Given the description of an element on the screen output the (x, y) to click on. 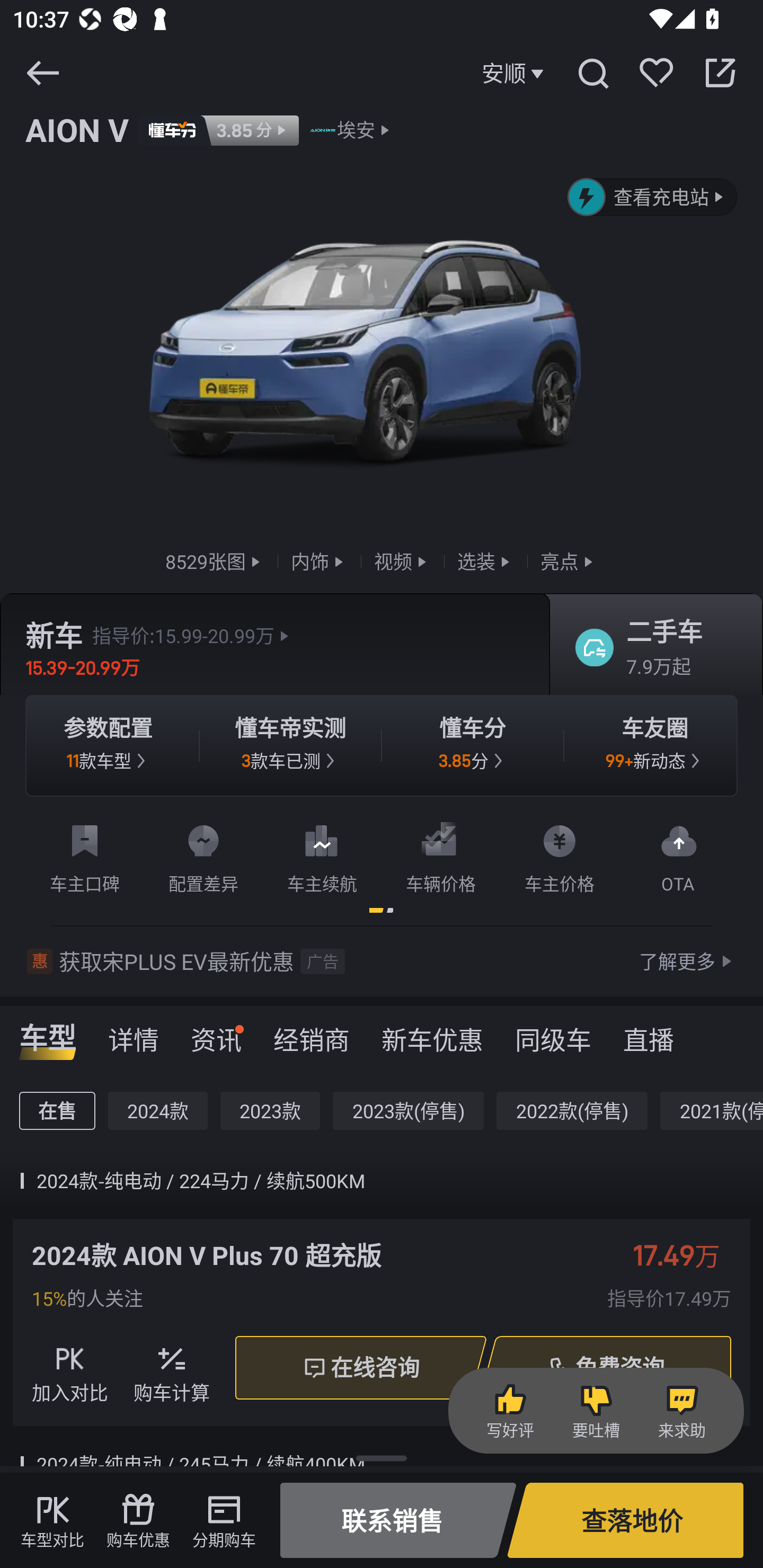
 (42, 72)
 (592, 72)
 (720, 72)
安顺 (514, 73)
埃安 (356, 130)
查看充电站  (652, 197)
8529张图 (214, 560)
内饰 (318, 560)
视频 (402, 560)
选装 (485, 560)
亮点 (568, 560)
二手车 7.9万起 (650, 646)
指导价:15.99-20.99万 (192, 635)
参数配置 11 款车型  (107, 745)
懂车帝实测 3 款车已测  (290, 745)
懂车分 3.85 分  (472, 745)
车友圈 99+ 新动态  (654, 745)
车主口碑 (84, 855)
配置差异 (203, 855)
车主续航 (321, 855)
车辆价格 (440, 855)
车主价格 (559, 855)
OTA (677, 855)
惠 获取宋PLUS EV最新优惠 广告 了解更多  (381, 960)
车型 (47, 1033)
详情 (133, 1033)
资讯 (215, 1033)
经销商 (311, 1033)
新车优惠 (431, 1033)
同级车 (553, 1033)
直播 (648, 1033)
在售 (57, 1110)
2024款 (157, 1110)
2023款 (269, 1110)
2023款(停售) (407, 1110)
2022款(停售) (571, 1110)
17.49 万 (685, 1255)
加入对比 (70, 1366)
 购车计算 (171, 1366)
在线咨询 (360, 1367)
写好评 (510, 1410)
要吐槽 (595, 1410)
来求助 (681, 1410)
车型对比 (52, 1520)
购车优惠 (138, 1520)
分期购车 (224, 1520)
联系销售 (398, 1519)
查落地价 (625, 1519)
